Given the description of an element on the screen output the (x, y) to click on. 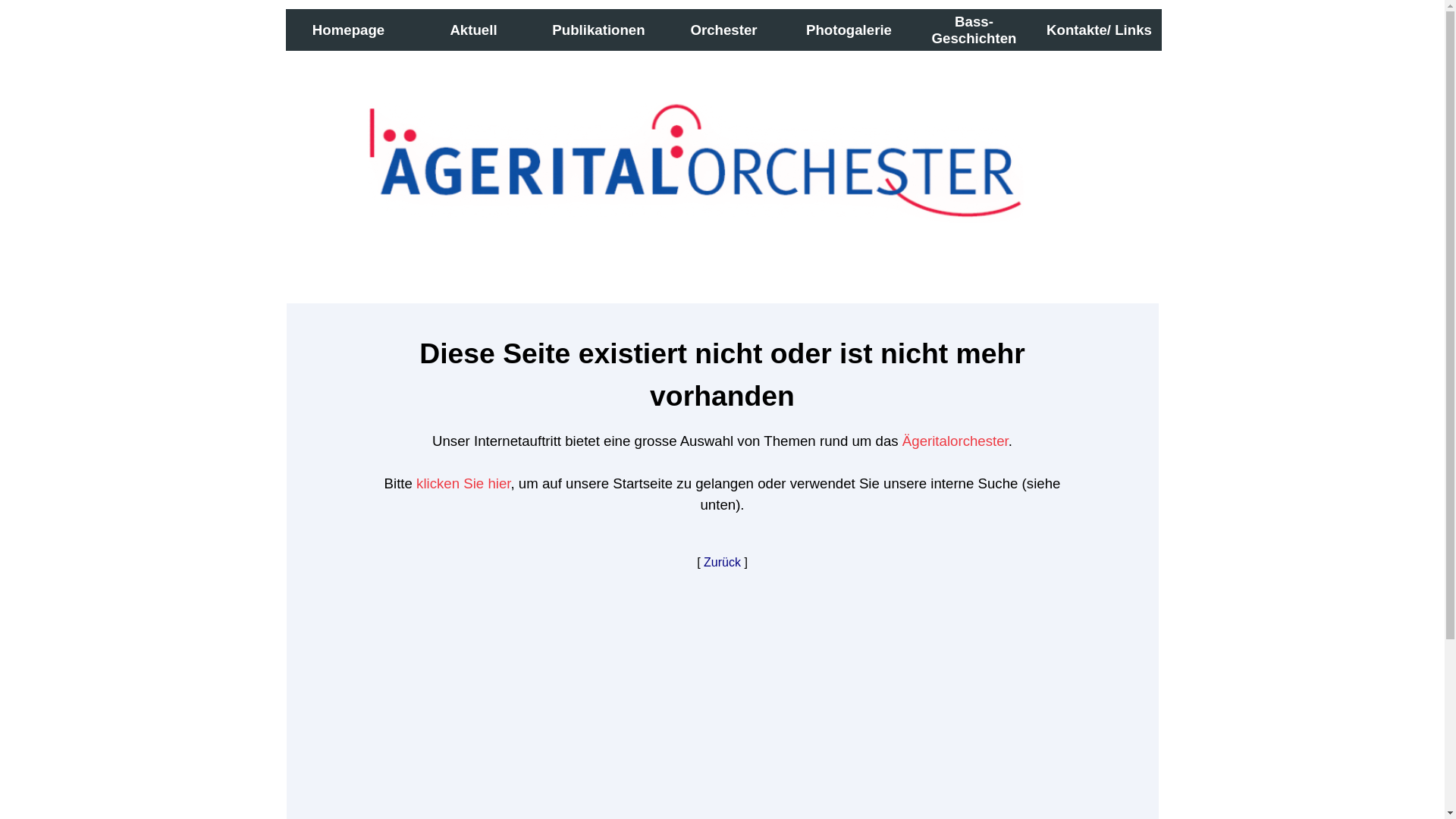
Homepage Element type: text (348, 29)
Aktuell Element type: text (473, 29)
klicken Sie hier Element type: text (463, 483)
